Given the description of an element on the screen output the (x, y) to click on. 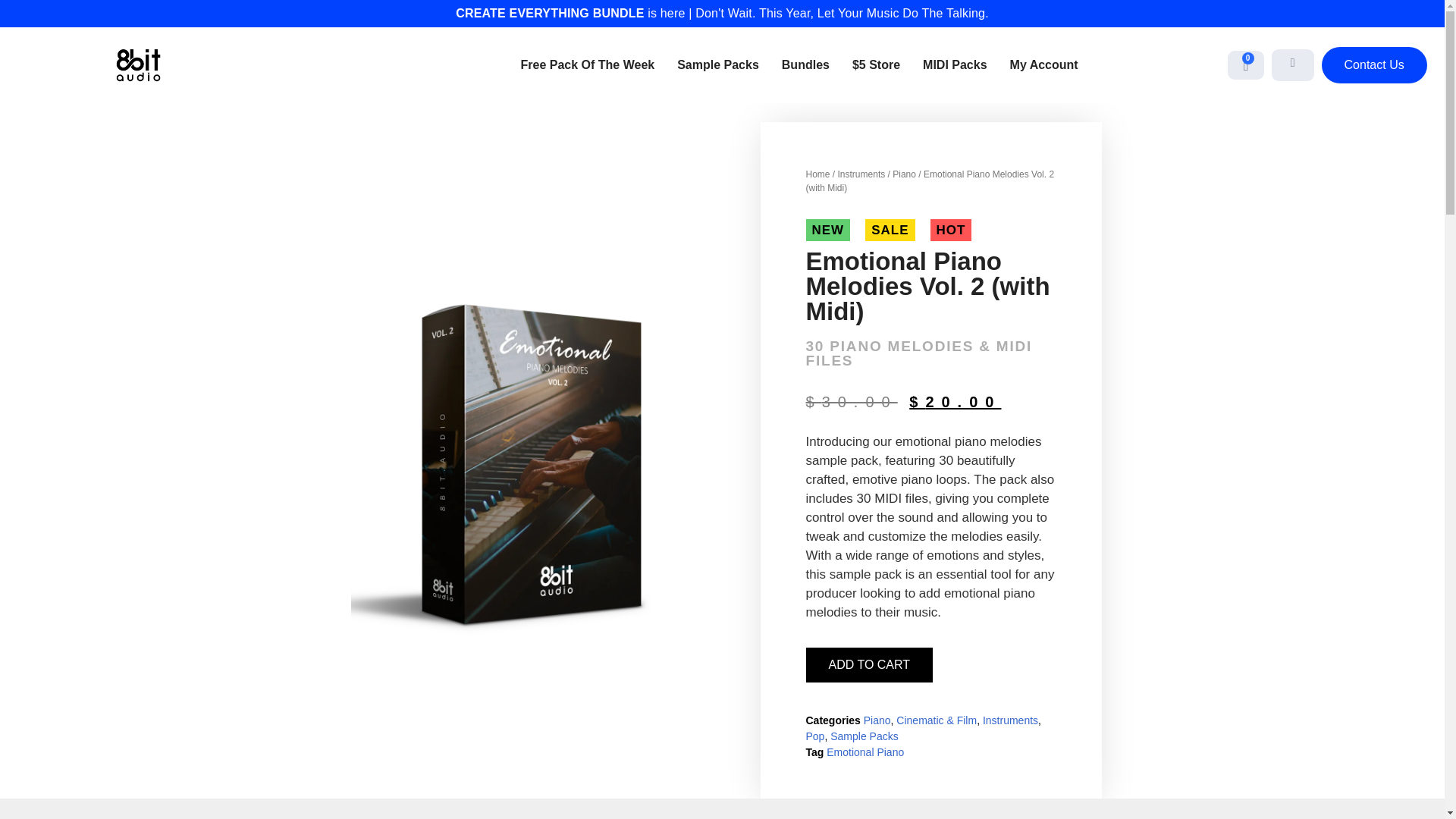
Instruments (861, 173)
Sample Packs (717, 65)
Home (817, 173)
Instruments (1010, 720)
Free Pack Of The Week (588, 65)
Piano (903, 173)
Bundles (805, 65)
Piano (877, 720)
Sample Packs (863, 736)
Contact Us (1374, 64)
